Given the description of an element on the screen output the (x, y) to click on. 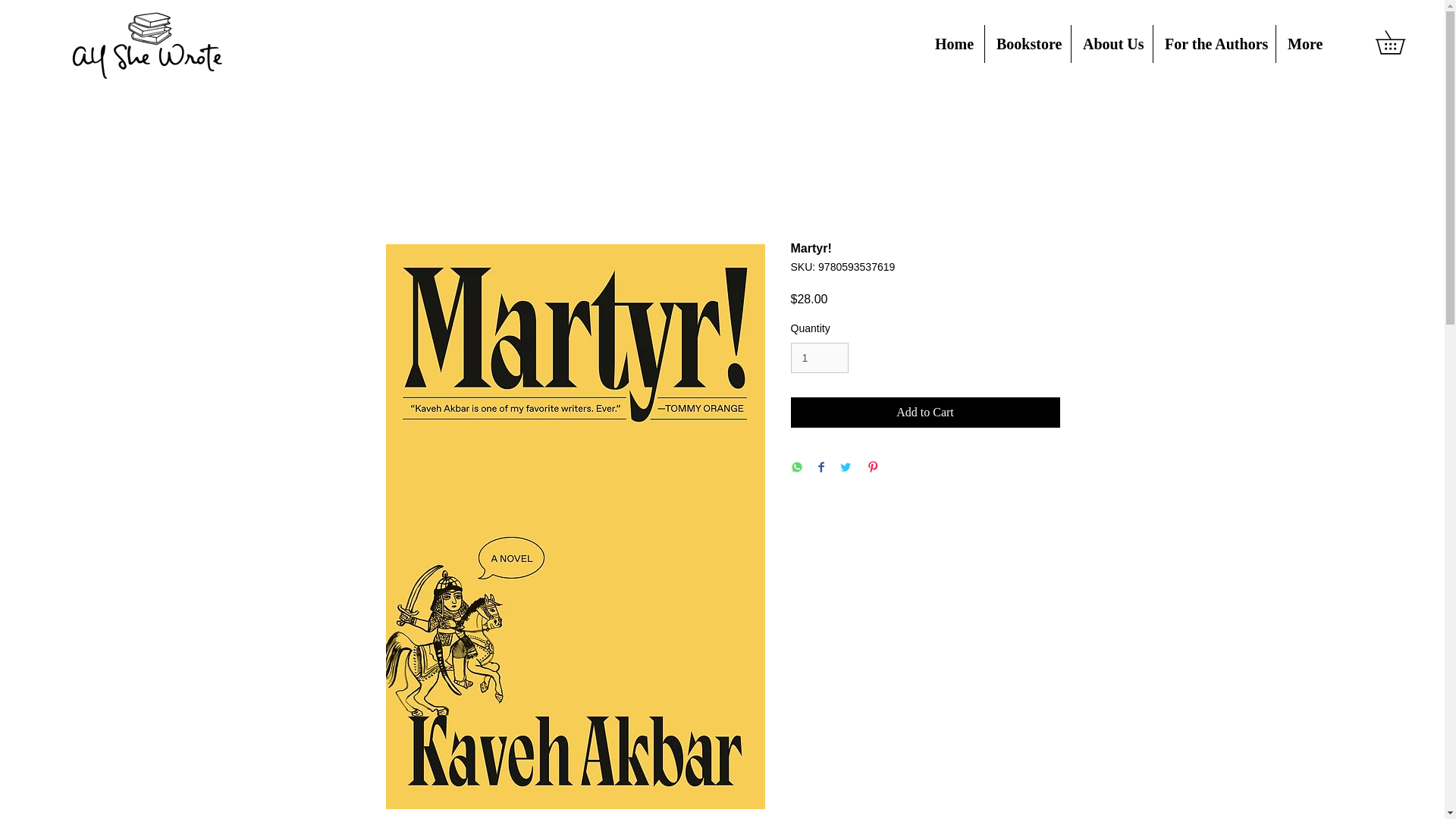
Add to Cart (924, 412)
1 (818, 358)
Bookstore (1027, 44)
About Us (1112, 44)
Home (953, 44)
For the Authors (1214, 44)
